Given the description of an element on the screen output the (x, y) to click on. 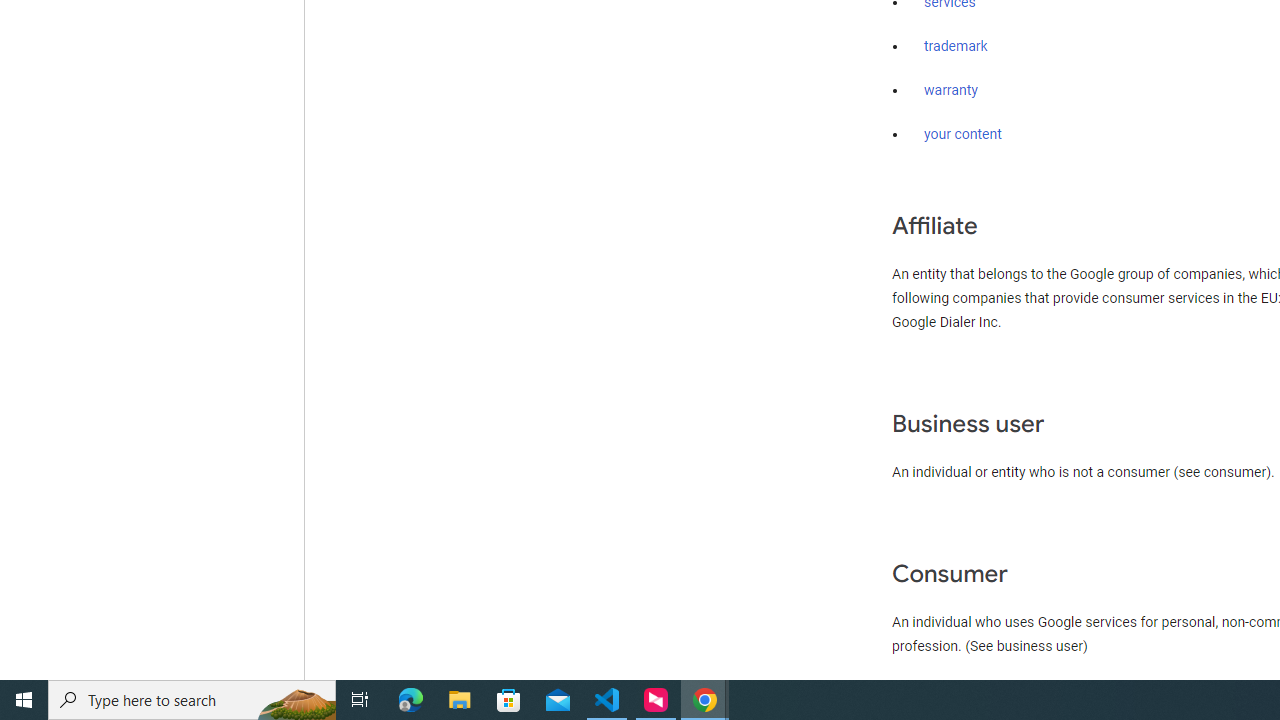
trademark (956, 47)
your content (963, 134)
warranty (950, 91)
